Given the description of an element on the screen output the (x, y) to click on. 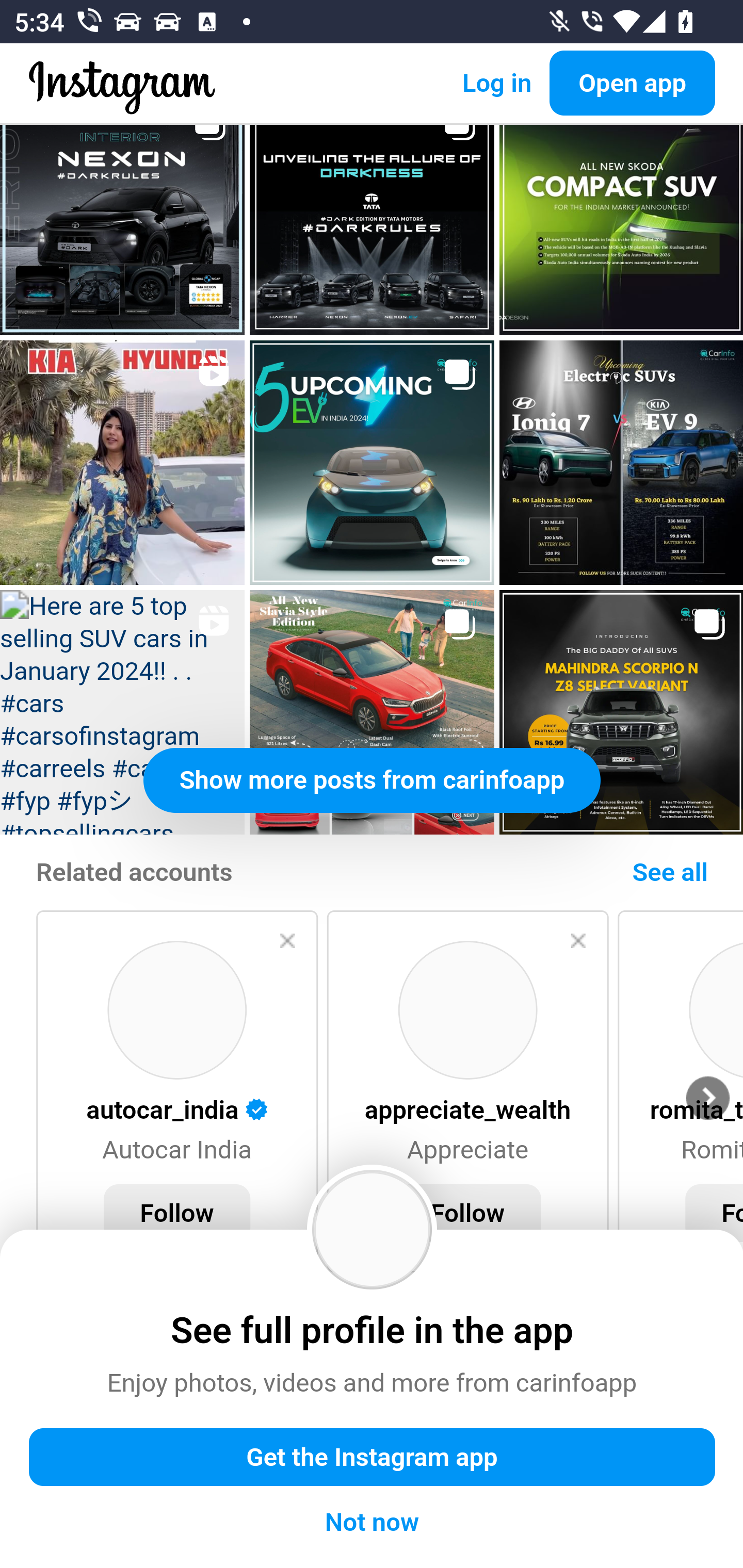
See all (670, 874)
Dismiss appreciate_wealth Appreciate Follow (467, 1091)
Next (707, 1099)
